Given the description of an element on the screen output the (x, y) to click on. 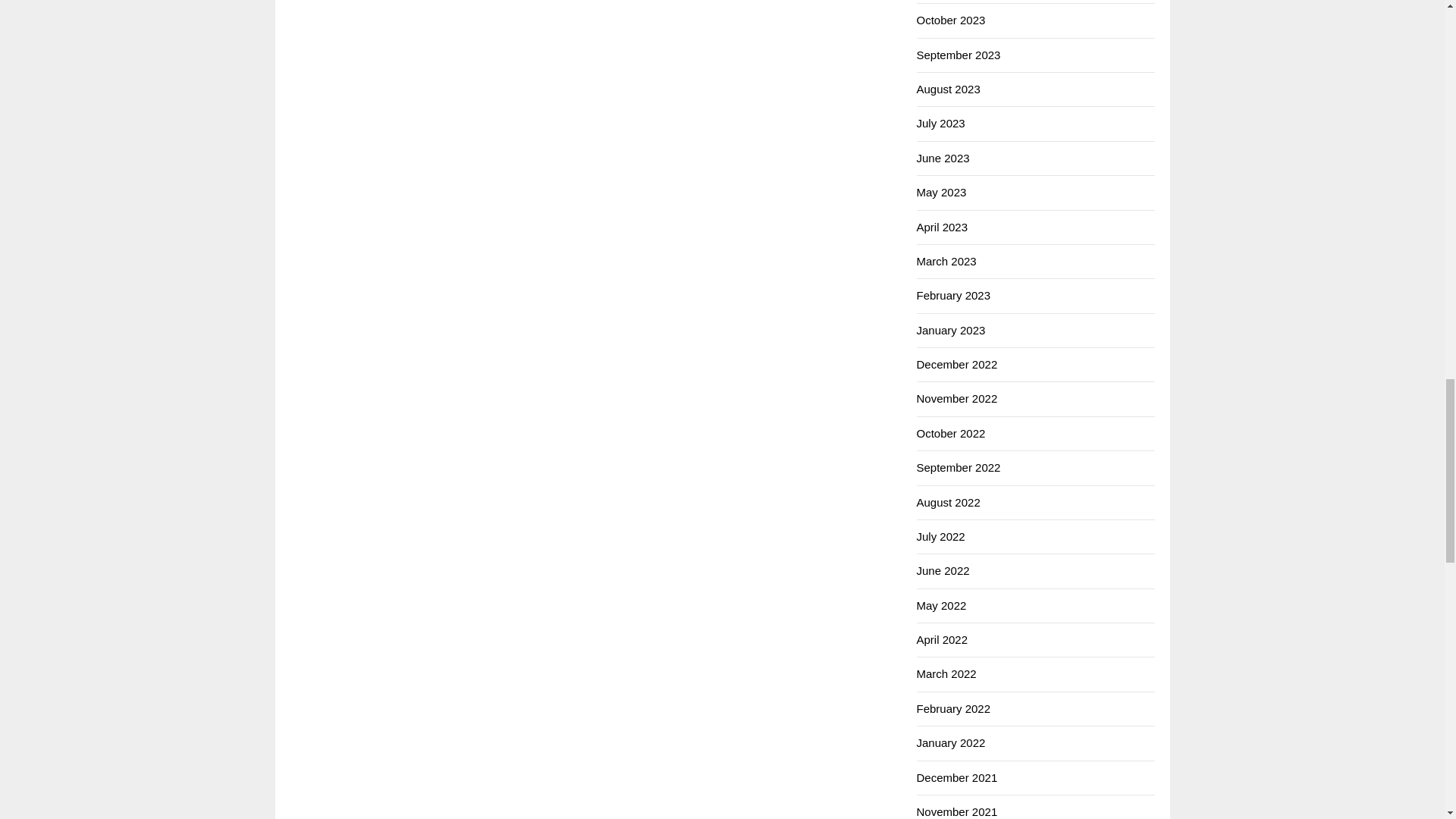
May 2023 (940, 192)
September 2023 (957, 54)
January 2023 (950, 329)
October 2023 (950, 19)
June 2023 (942, 157)
March 2023 (945, 260)
December 2022 (956, 364)
February 2023 (952, 295)
August 2023 (947, 88)
July 2023 (939, 123)
